Given the description of an element on the screen output the (x, y) to click on. 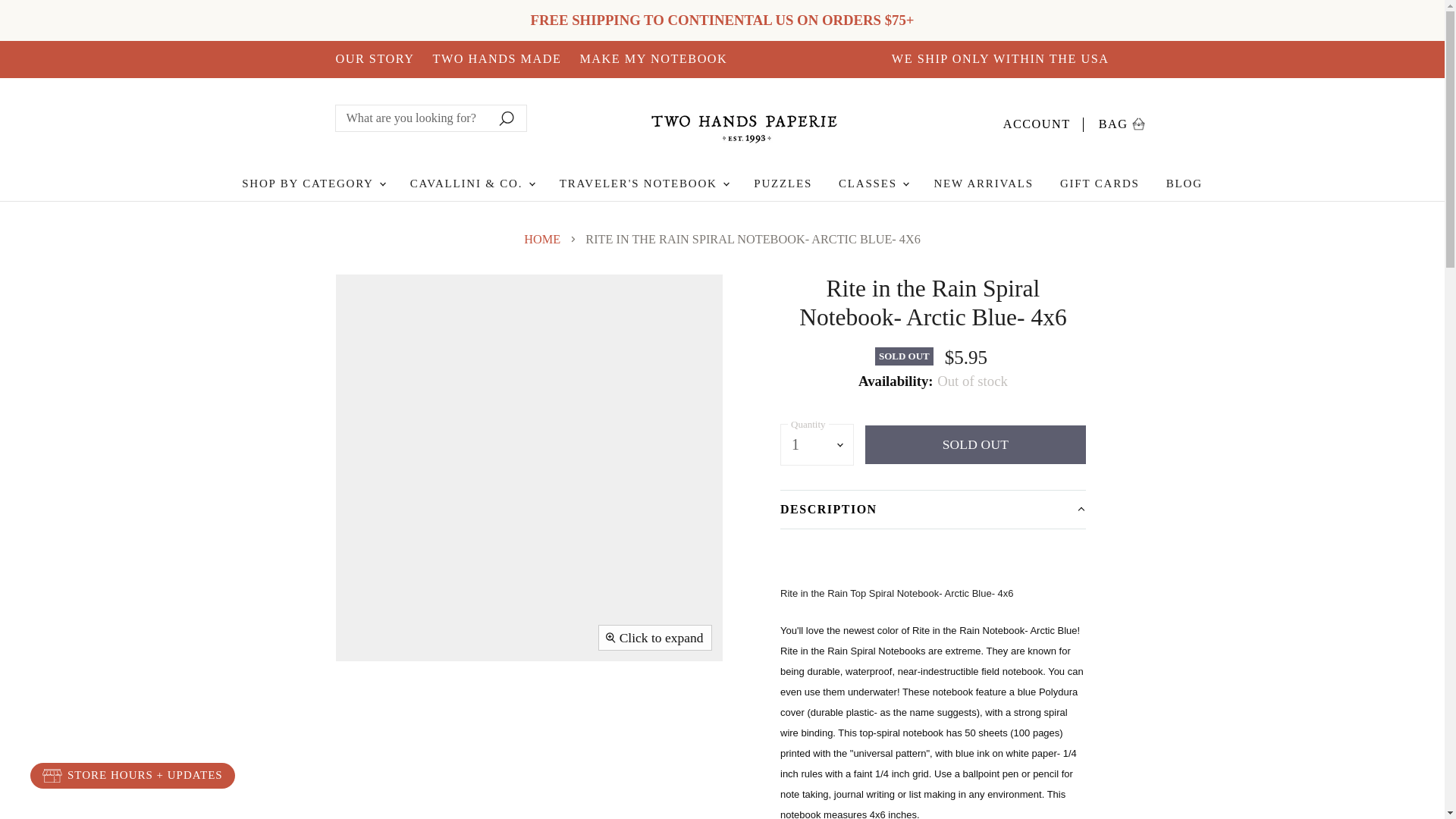
WE SHIP ONLY WITHIN THE USA (1000, 59)
OUR STORY (373, 59)
MAKE MY NOTEBOOK (1121, 121)
TWO HANDS MADE (1042, 121)
SHOP BY CATEGORY (652, 59)
